Given the description of an element on the screen output the (x, y) to click on. 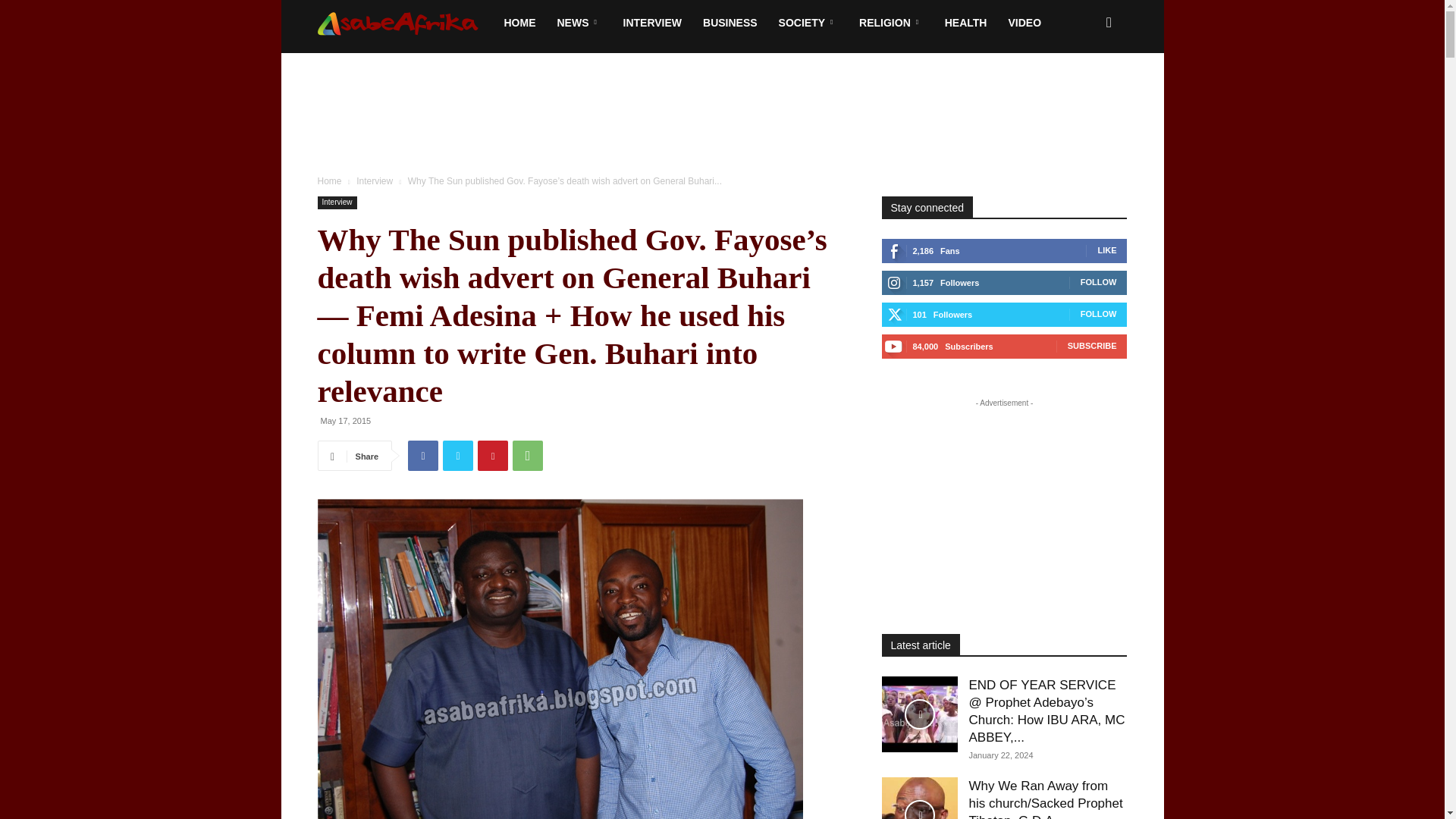
NEWS (578, 22)
RELIGION (891, 22)
Search (1085, 87)
Home (328, 181)
INTERVIEW (652, 22)
HEALTH (965, 22)
View all posts in Interview (374, 181)
SOCIETY (808, 22)
Interview (374, 181)
Pinterest (492, 455)
Twitter (457, 455)
Facebook (422, 455)
BUSINESS (730, 22)
Advertisement (721, 105)
